Given the description of an element on the screen output the (x, y) to click on. 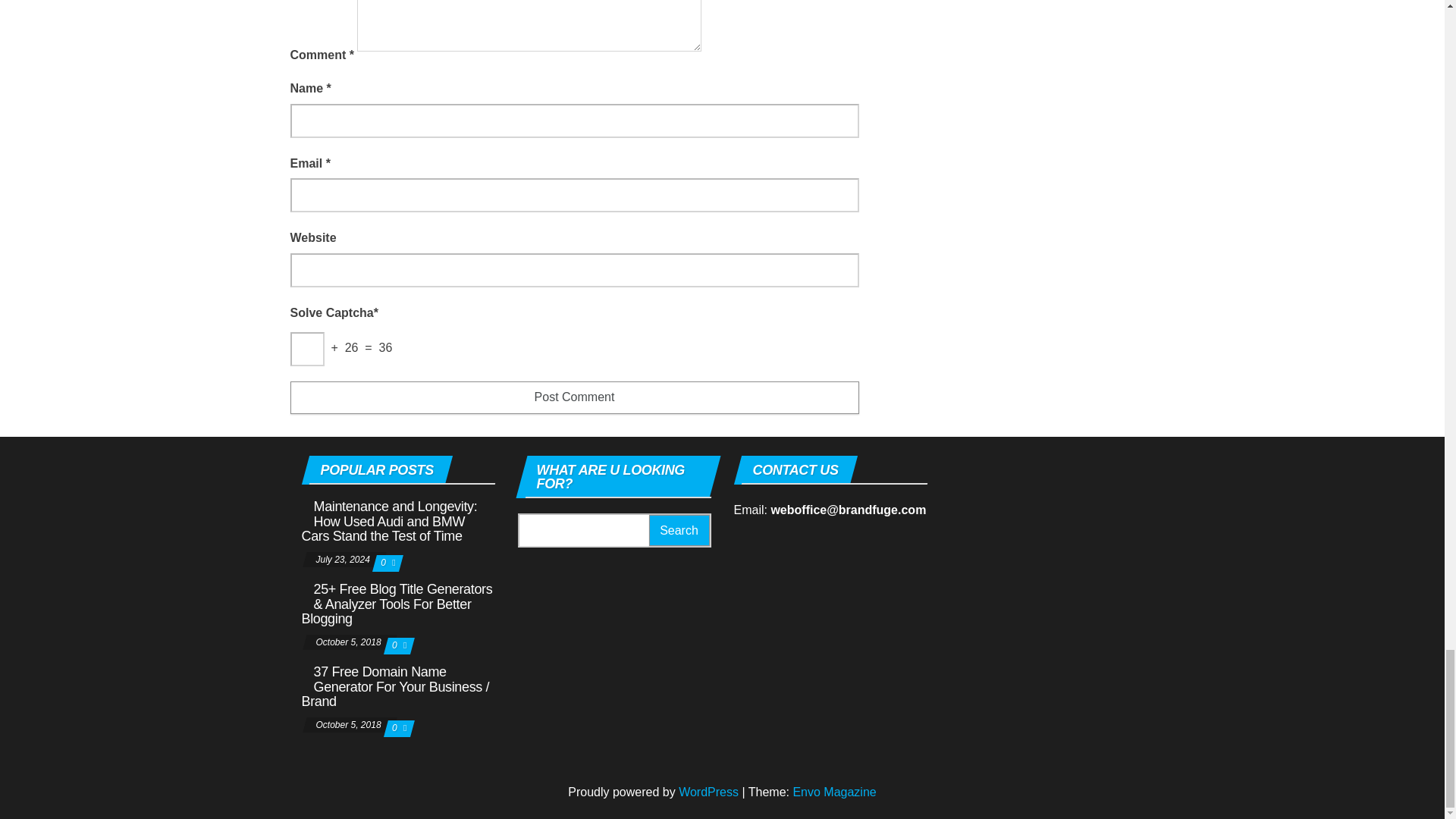
Search (679, 530)
Post Comment (574, 397)
Post Comment (574, 397)
